Given the description of an element on the screen output the (x, y) to click on. 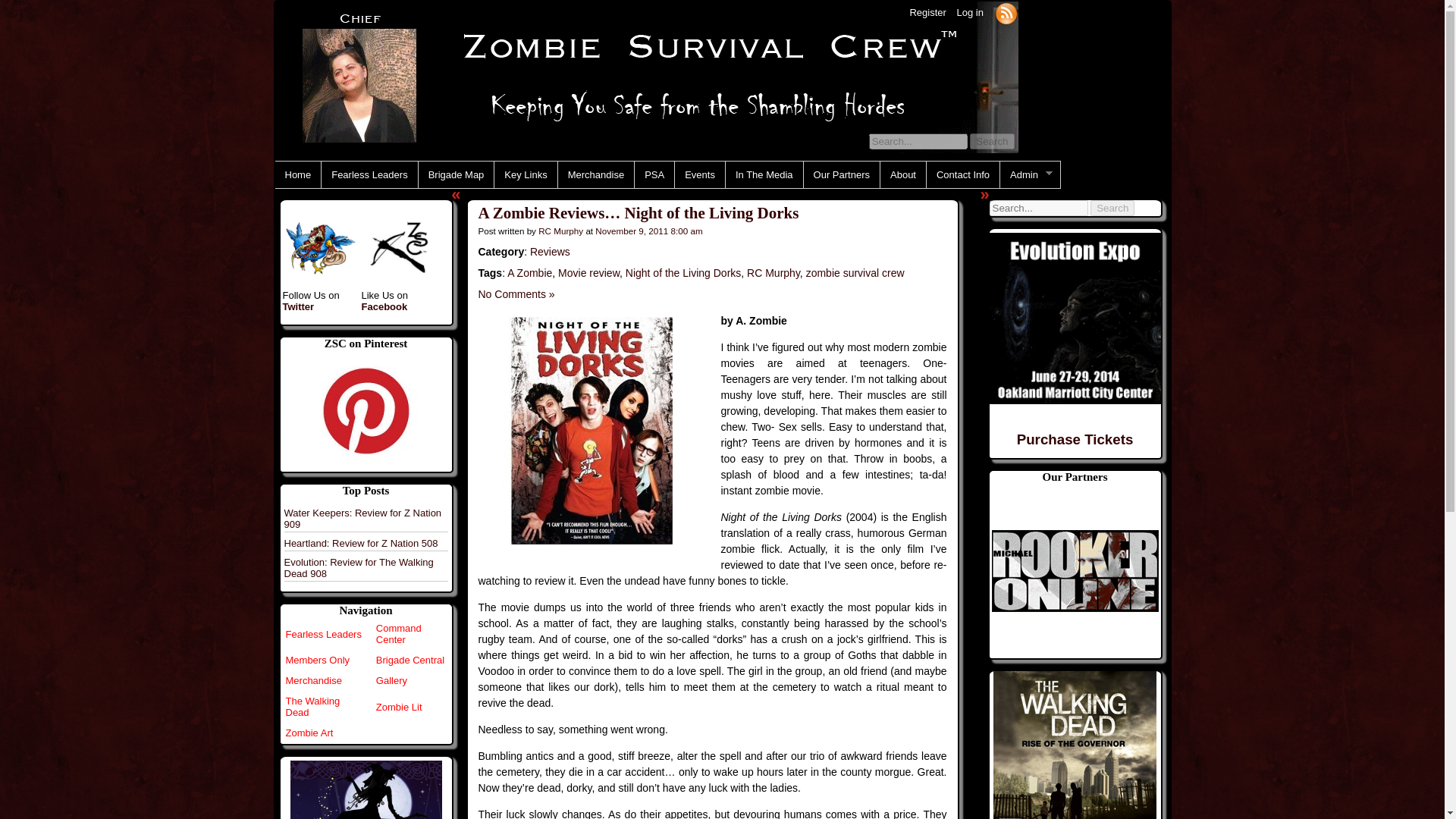
Merchandise (595, 174)
About (903, 174)
Fearless Leaders (323, 633)
In The Media (764, 174)
Members Only (317, 659)
Facebook (384, 306)
Posts by RC Murphy (560, 230)
Brigade Central (409, 659)
PSA (654, 174)
Search (1112, 207)
Zombie Art (309, 732)
Posts of the November 9, 2011 (648, 230)
The Walking Dead (312, 706)
Heartland: Review for Z Nation 508 (360, 542)
Search (991, 141)
